Given the description of an element on the screen output the (x, y) to click on. 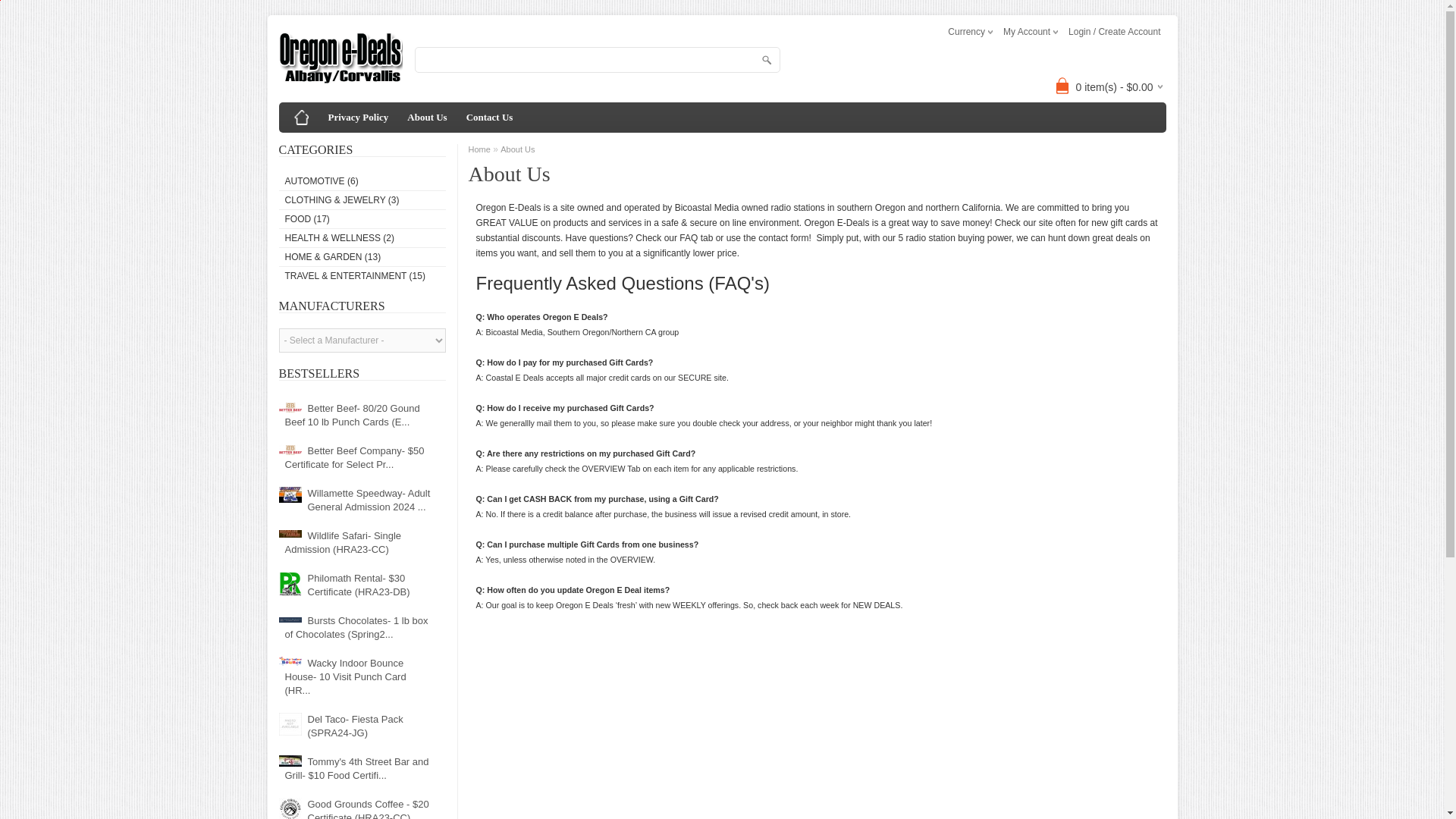
Contact Us (489, 117)
Privacy Policy (358, 117)
Willamette Speedway- Adult General Admission 2024 ... (355, 500)
Home (301, 117)
About Us (426, 117)
Home (301, 117)
